Given the description of an element on the screen output the (x, y) to click on. 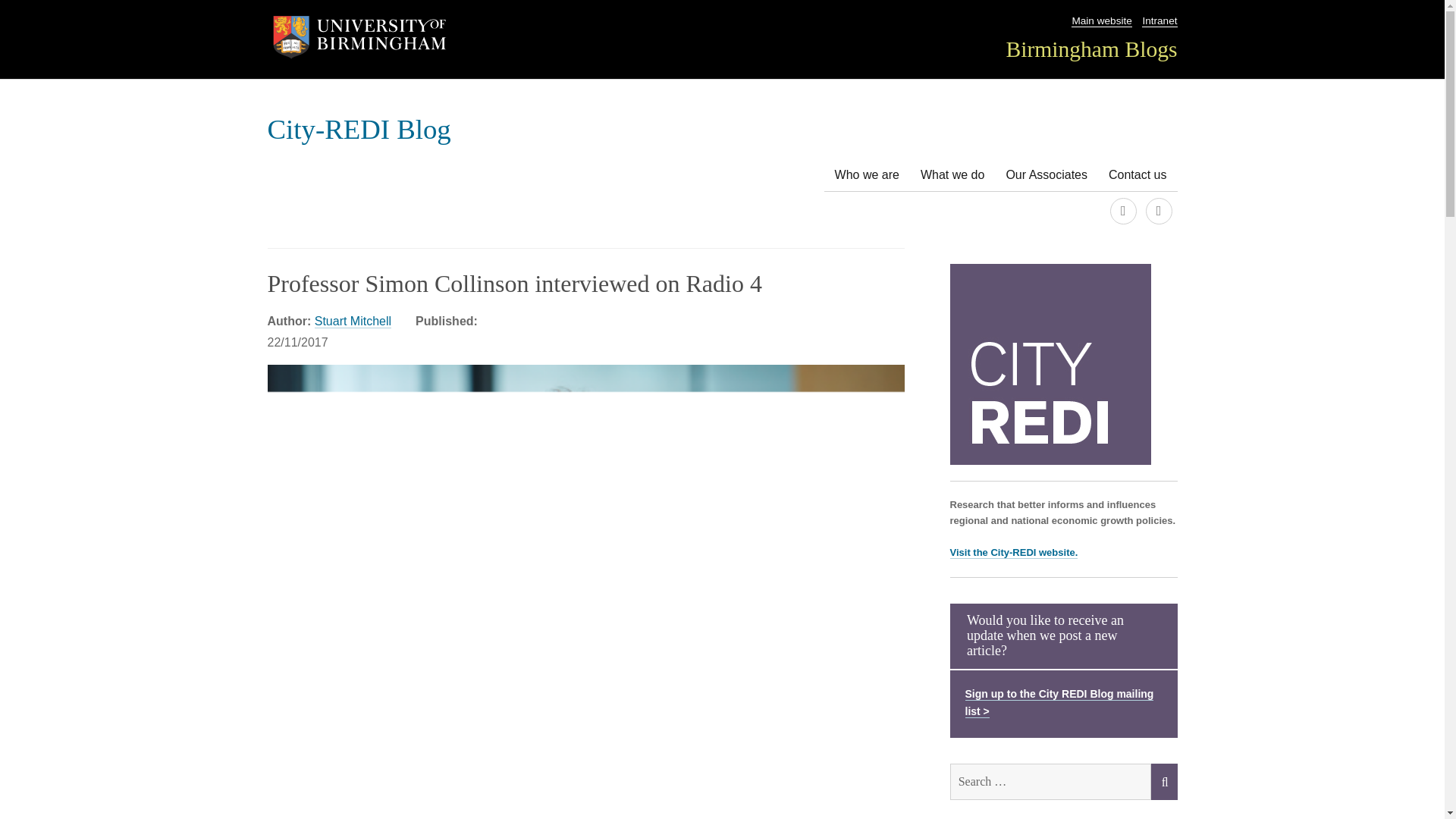
Intranet (1158, 21)
Contact us (1136, 174)
Who we are (867, 174)
Stuart Mitchell (352, 321)
Birmingham Blogs (1091, 48)
Visit the City-REDI website. (1013, 552)
Our Associates (1045, 174)
Search for: (1049, 781)
Main website (1101, 21)
